Given the description of an element on the screen output the (x, y) to click on. 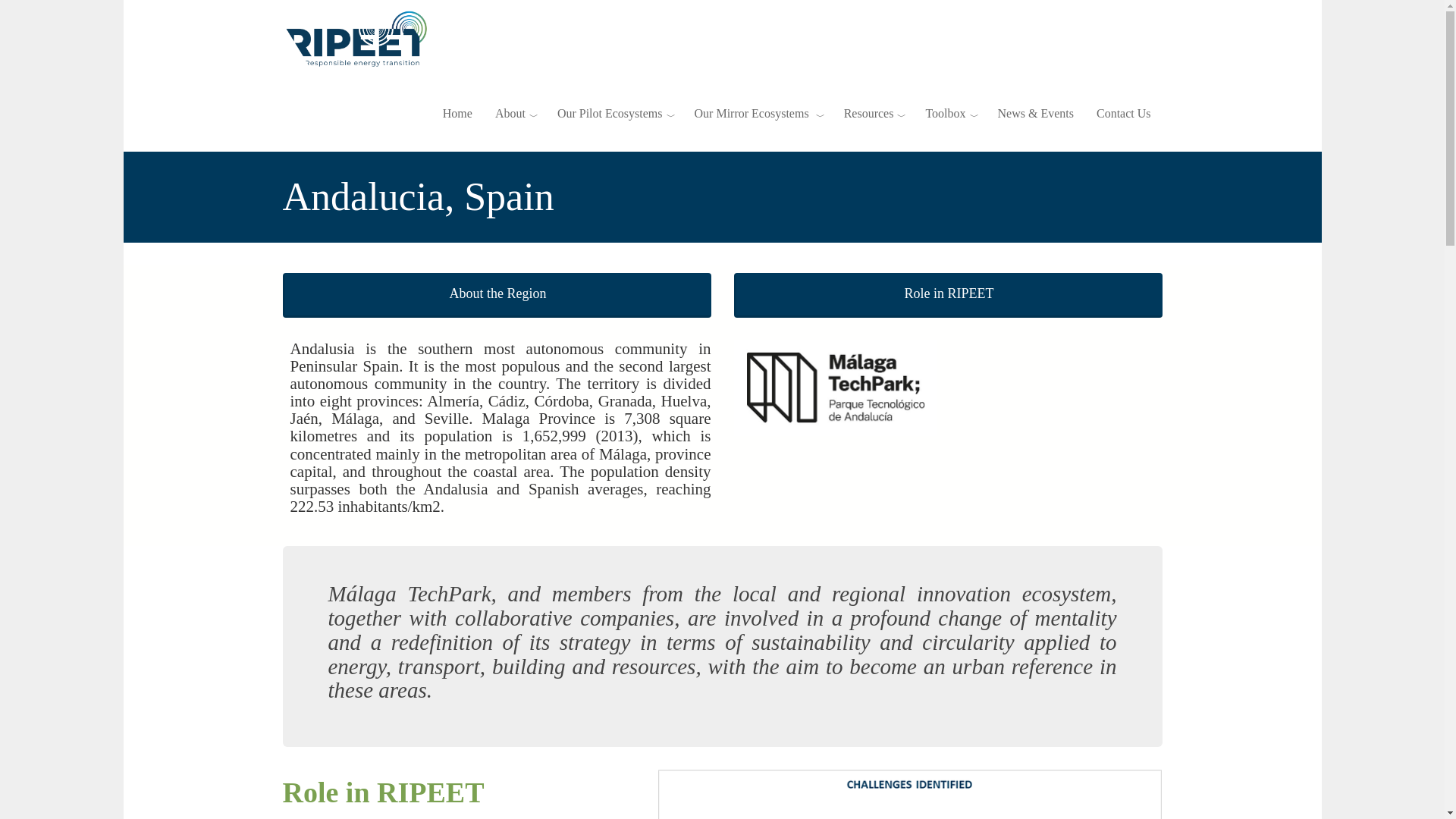
Resources (873, 113)
Role in RIPEET (947, 294)
Our Pilot Ecosystems (614, 113)
About the Region (496, 294)
Our Mirror Ecosystems (757, 113)
Home (362, 38)
Contact Us (1122, 113)
Home (456, 113)
About (514, 113)
Toolbox (949, 113)
